Given the description of an element on the screen output the (x, y) to click on. 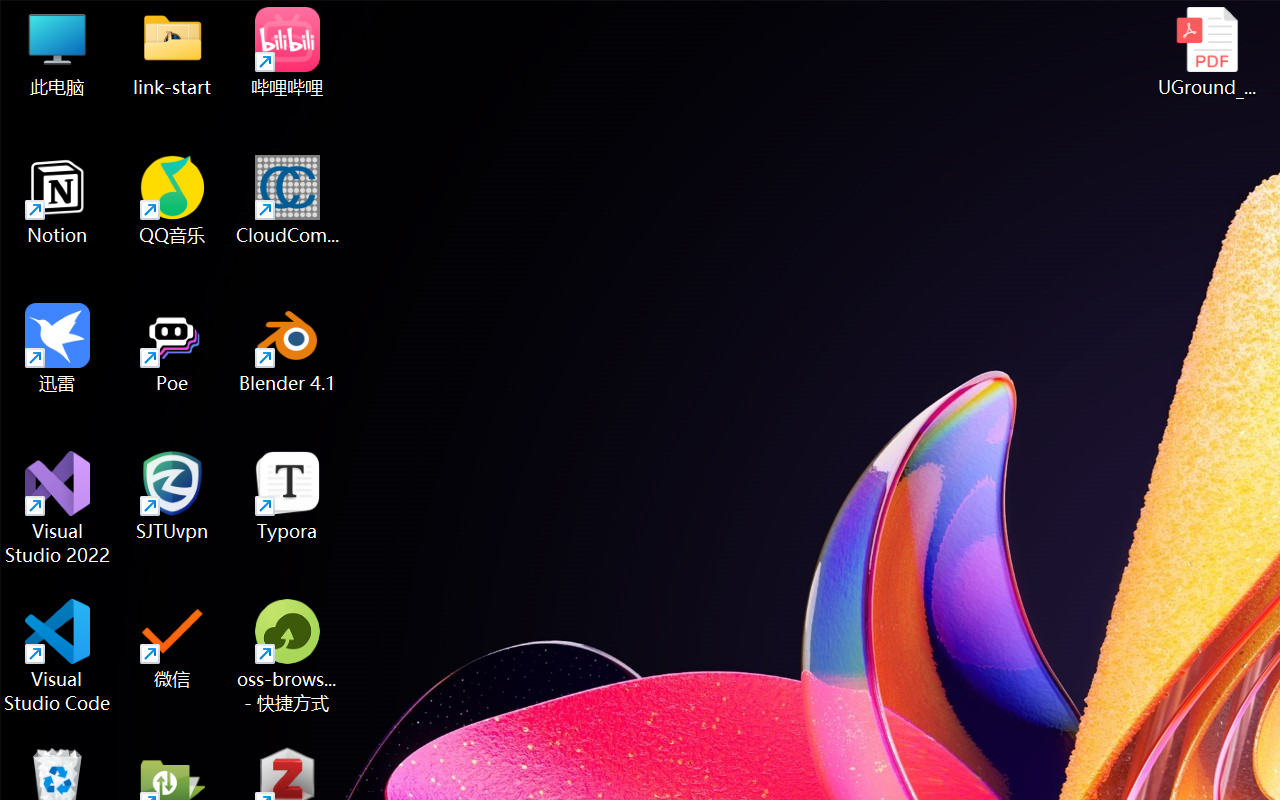
Pen: Black, 0.5 mm (281, 173)
Ink Replay (1137, 179)
Drawing Canvas (1045, 179)
test.py (1041, 105)
Ruler (660, 179)
Generate Docstring (1122, 472)
Can't Repeat (341, 35)
